Given the description of an element on the screen output the (x, y) to click on. 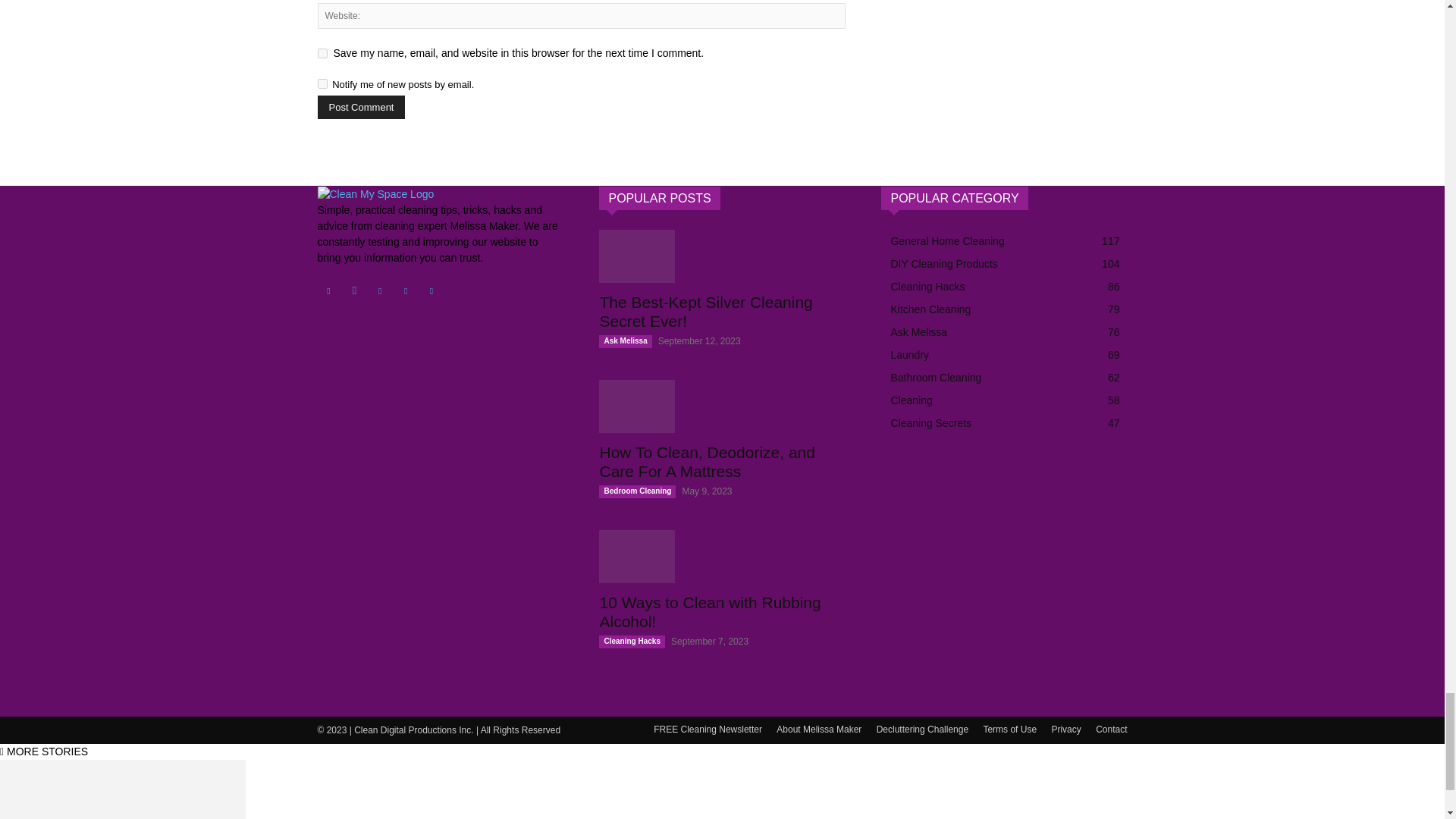
subscribe (321, 83)
Post Comment (360, 106)
yes (321, 53)
